Given the description of an element on the screen output the (x, y) to click on. 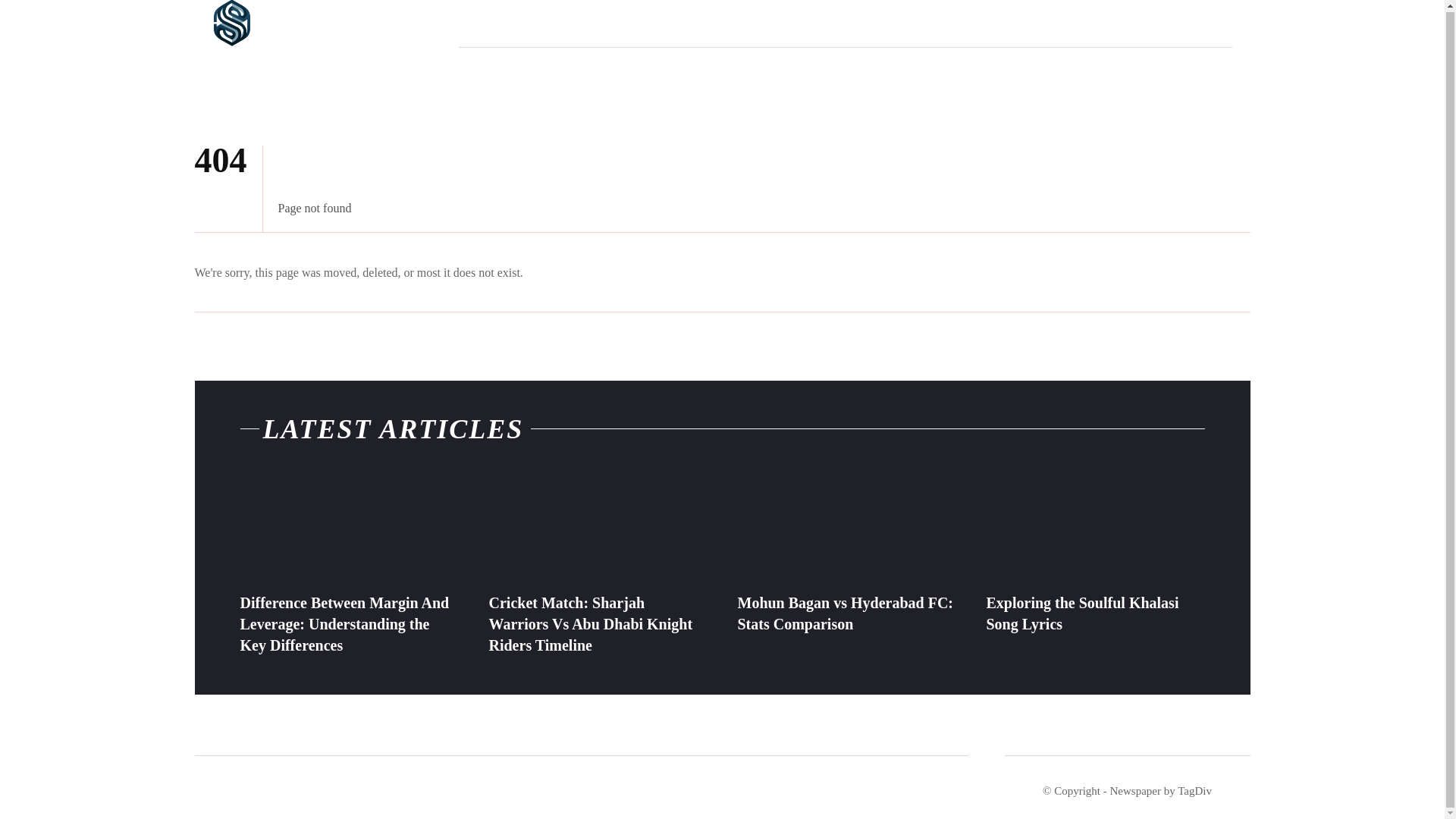
Mohun Bagan vs Hyderabad FC: Stats Comparison (845, 527)
Exploring the Soulful Khalasi Song Lyrics (1081, 613)
Mohun Bagan vs Hyderabad FC: Stats Comparison (844, 613)
Exploring the Soulful Khalasi Song Lyrics (1094, 527)
